Given the description of an element on the screen output the (x, y) to click on. 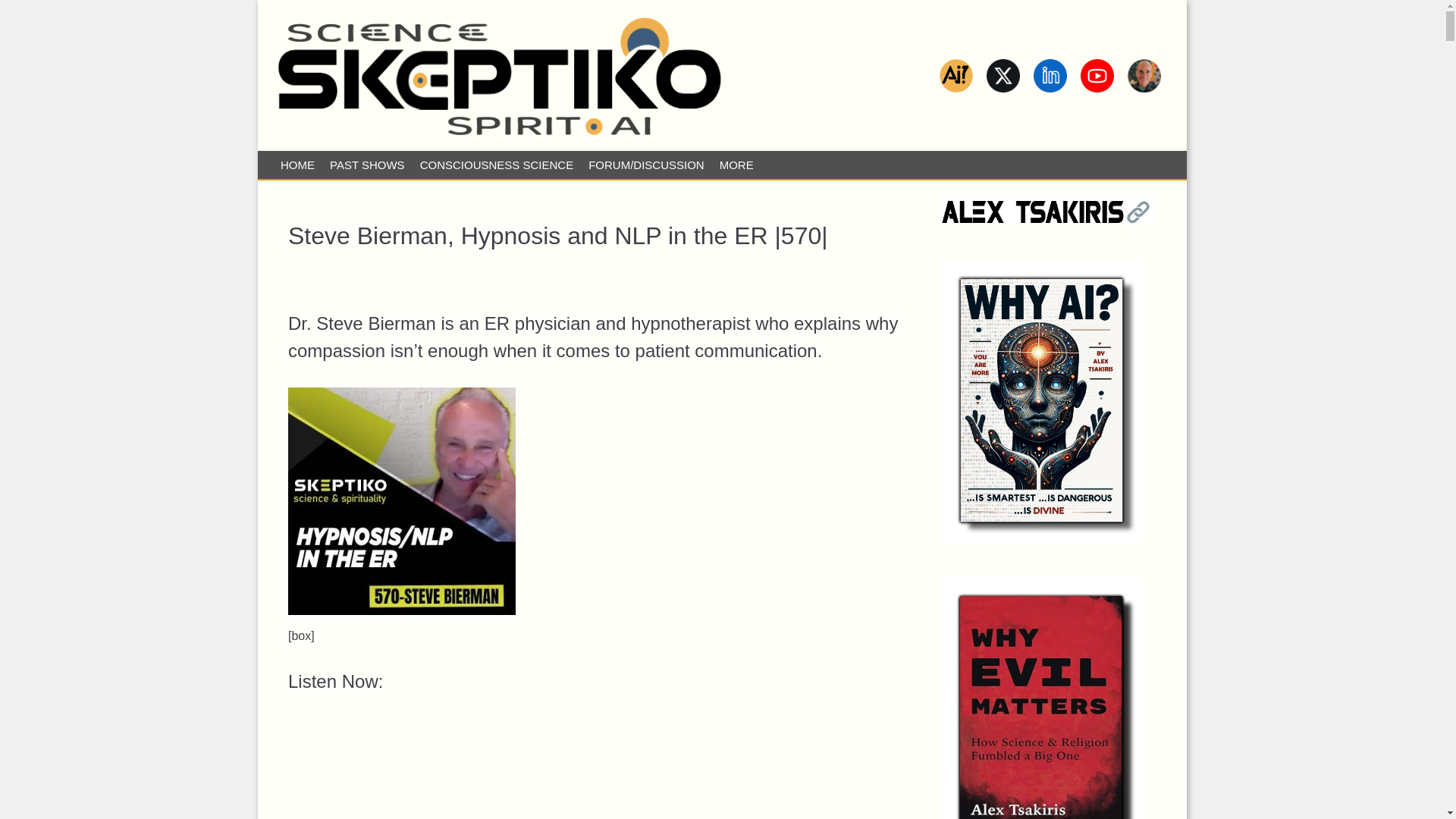
MORE (736, 164)
Blubrry Podcast Player (599, 768)
HOME (297, 164)
CONSCIOUSNESS SCIENCE (496, 164)
PAST SHOWS (366, 164)
